Given the description of an element on the screen output the (x, y) to click on. 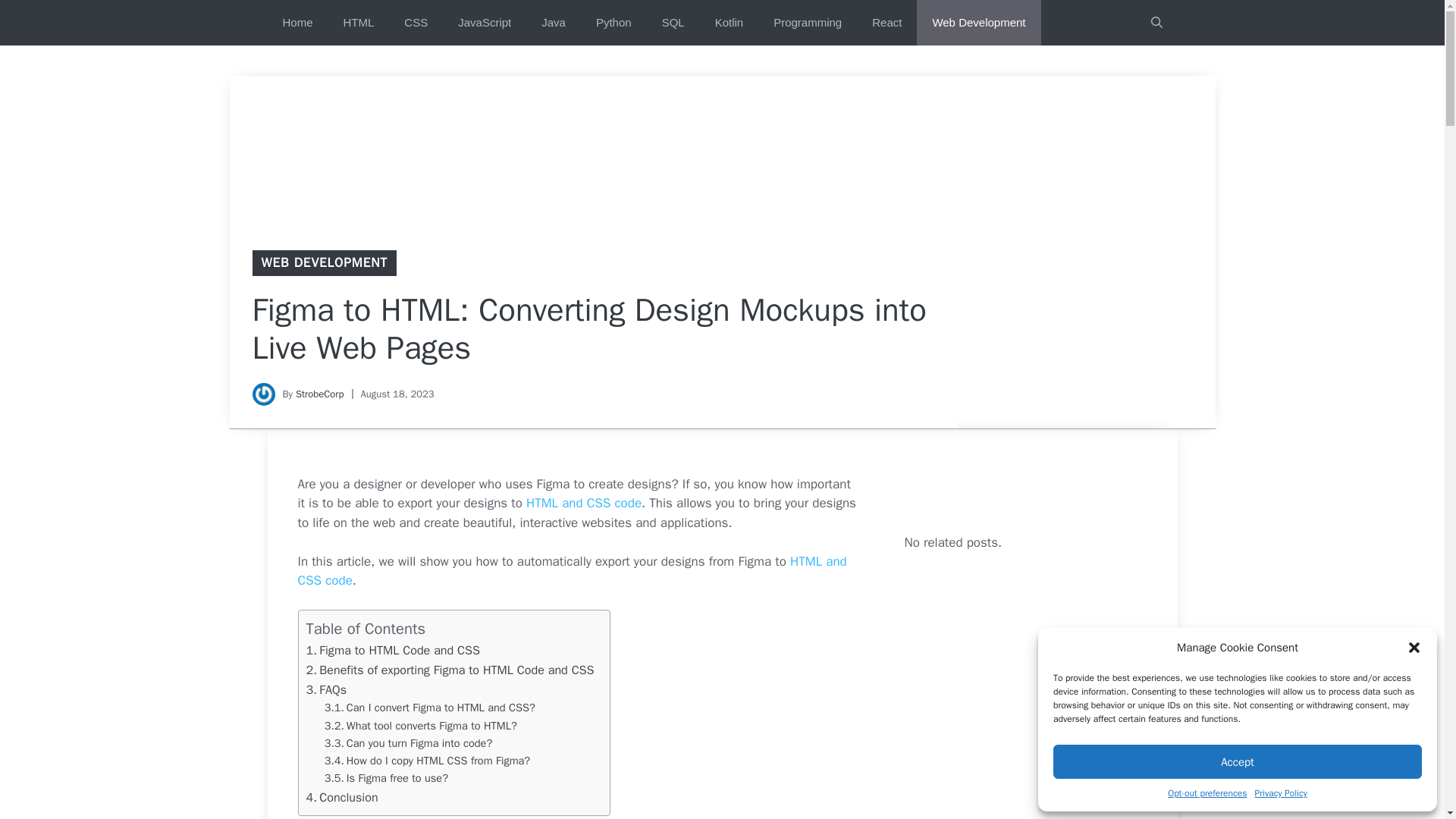
FAQs (326, 690)
React (887, 22)
Is Figma free to use? (386, 778)
FAQs (326, 690)
Opt-out preferences (1206, 793)
Home (296, 22)
HTML and CSS code (571, 570)
HTML (359, 22)
Is Figma free to use? (386, 778)
HTML and CSS code (582, 503)
